Given the description of an element on the screen output the (x, y) to click on. 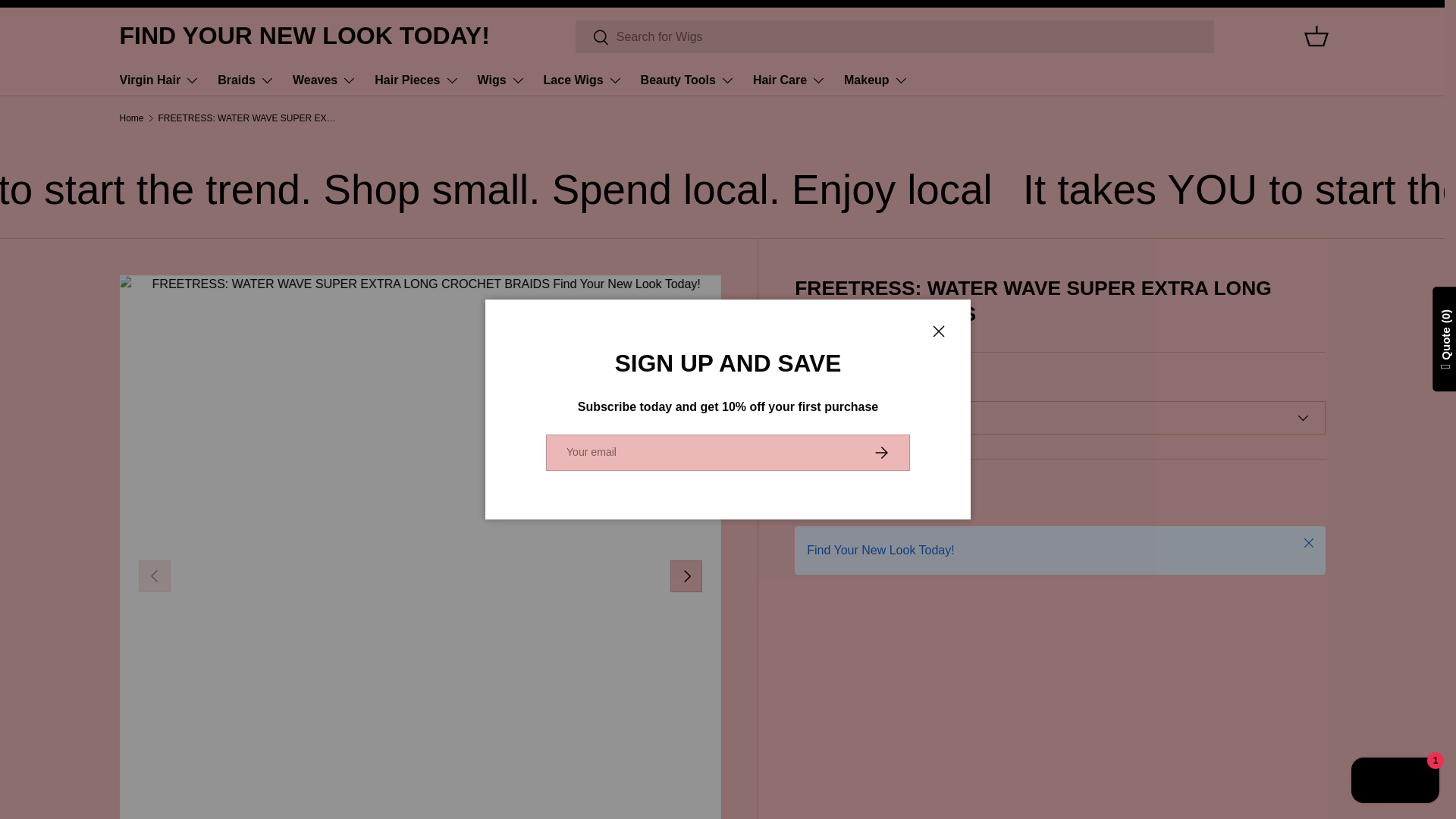
Shopify online store chat (1395, 781)
Search (592, 37)
Hair Pieces (416, 80)
Wigs (501, 80)
Weaves (324, 80)
SKIP TO CONTENT (68, 21)
Virgin Hair (159, 80)
Lace Wigs (583, 80)
Basket (1316, 36)
FIND YOUR NEW LOOK TODAY! (304, 36)
Braids (245, 80)
